Given the description of an element on the screen output the (x, y) to click on. 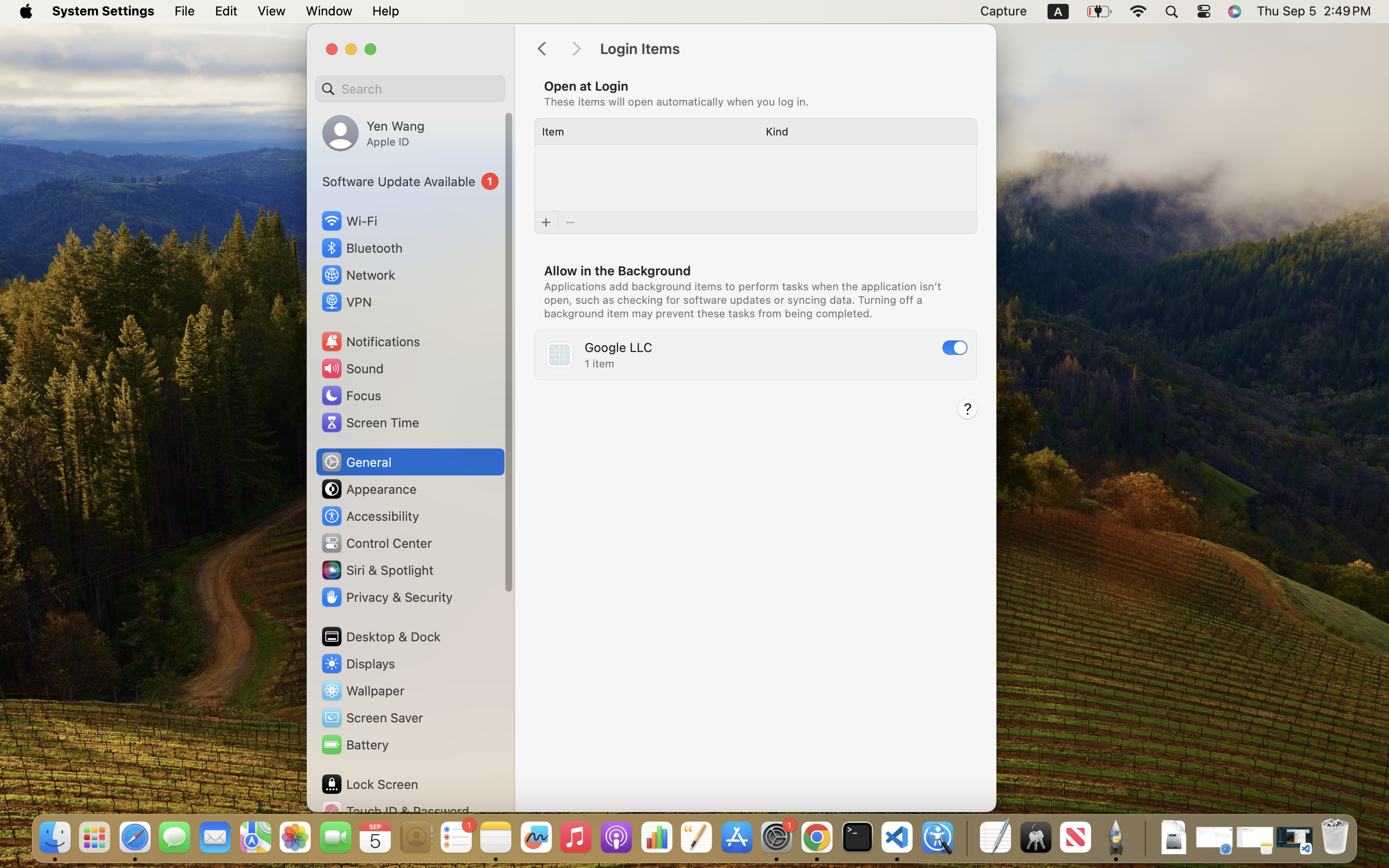
Wi‑Fi Element type: AXStaticText (348, 220)
Lock Screen Element type: AXStaticText (369, 783)
Appearance Element type: AXStaticText (368, 488)
0.4285714328289032 Element type: AXDockItem (965, 837)
Wallpaper Element type: AXStaticText (362, 690)
